Given the description of an element on the screen output the (x, y) to click on. 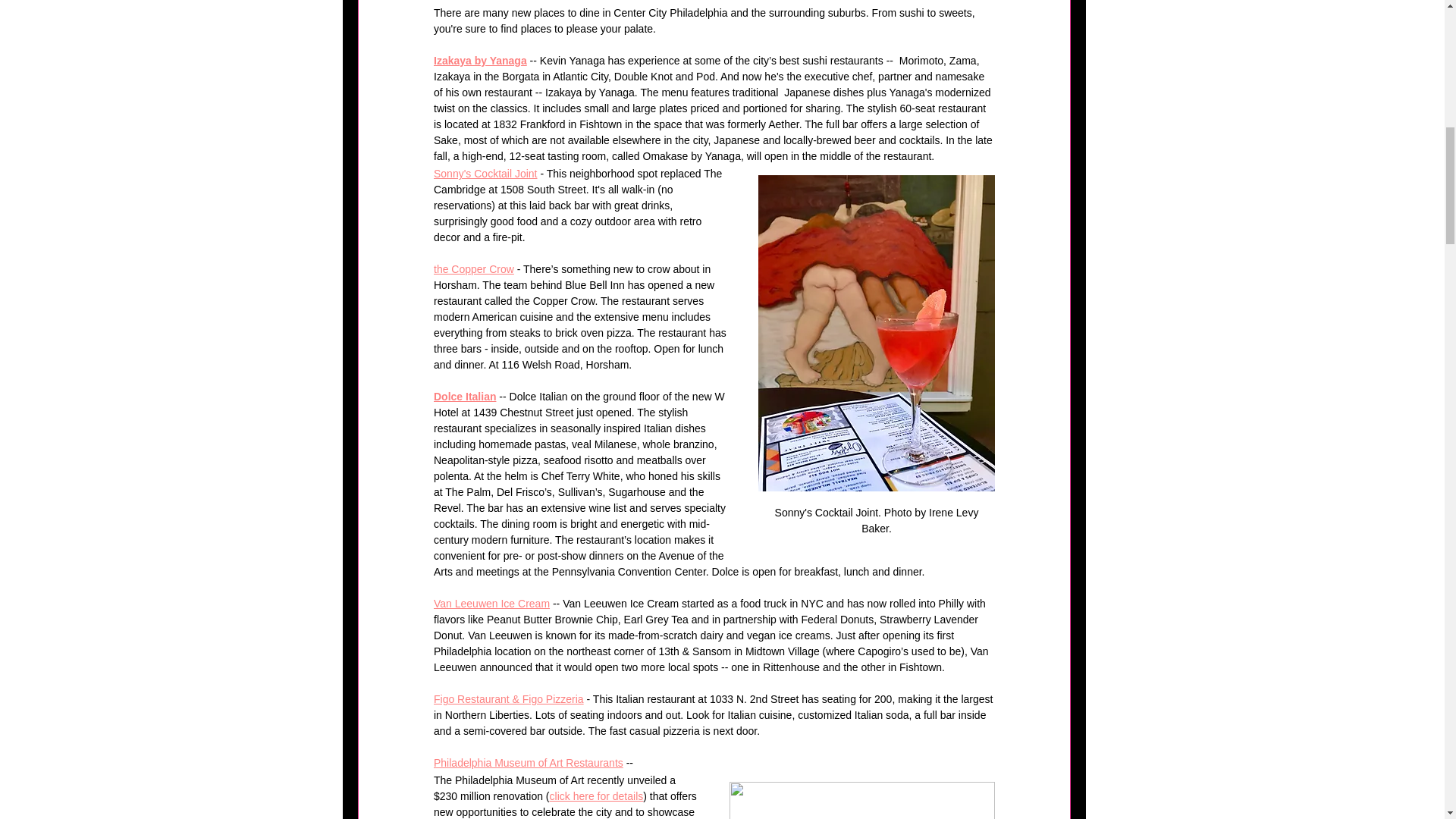
Dolce Italian (464, 396)
the Copper Crow (473, 268)
Van Leeuwen Ice Cream (491, 603)
Izakaya by Yanaga (480, 60)
Philadelphia Museum of Art Restaurants (528, 762)
Sonny's Cocktail Joint (485, 173)
